Given the description of an element on the screen output the (x, y) to click on. 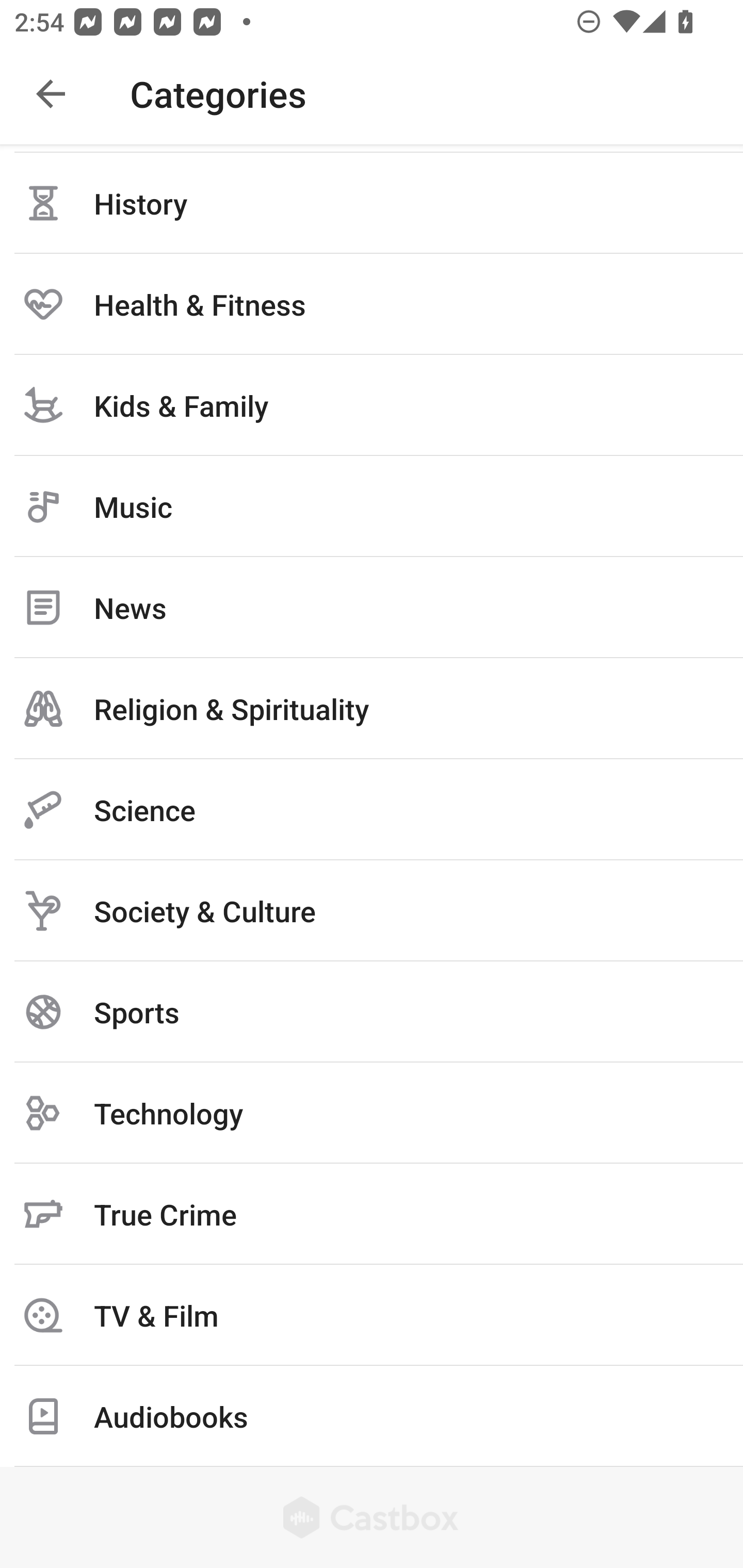
Navigate up (50, 93)
History (371, 203)
Health & Fitness (371, 304)
Kids & Family (371, 405)
Music (371, 506)
News (371, 607)
Religion & Spirituality (371, 708)
Science (371, 809)
Society & Culture (371, 910)
Sports (371, 1012)
Technology (371, 1113)
True Crime (371, 1214)
TV & Film (371, 1315)
Audiobooks (371, 1416)
